Given the description of an element on the screen output the (x, y) to click on. 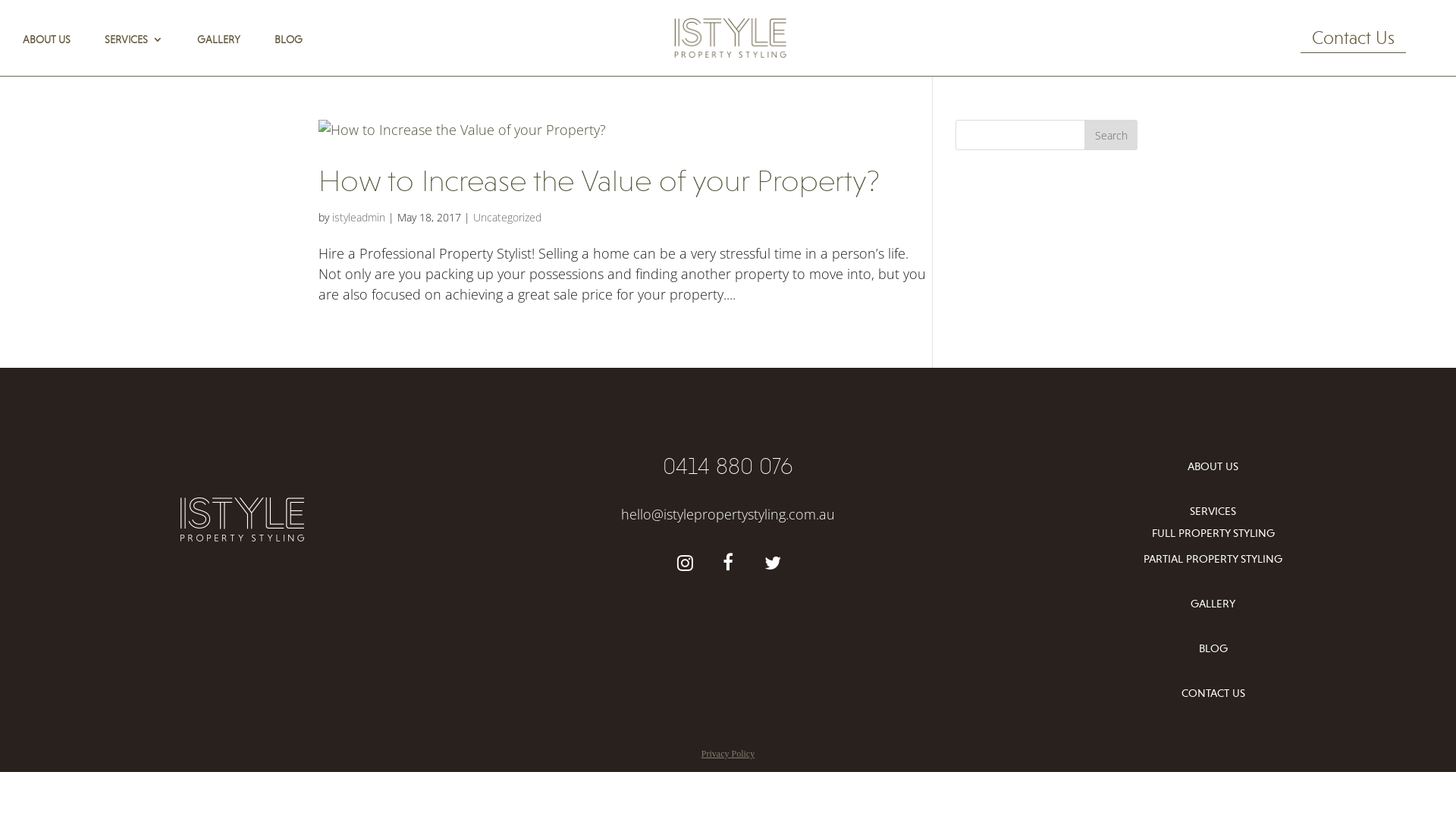
hello@istylepropertystyling.com.au Element type: text (727, 514)
ABOUT US Element type: text (46, 50)
How to Increase the Value of your Property? Element type: text (598, 180)
Uncategorized Element type: text (507, 217)
istyleadmin Element type: text (358, 217)
Search Element type: text (1110, 134)
BLOG Element type: text (288, 50)
FULL PROPERTY STYLING Element type: text (1212, 533)
GALLERY Element type: text (218, 50)
PARTIAL PROPERTY STYLING Element type: text (1212, 559)
Contact Us Element type: text (1352, 40)
Privacy Policy Element type: text (727, 753)
SERVICES Element type: text (133, 50)
SERVICES Element type: text (1212, 511)
BLOG Element type: text (1212, 648)
CONTACT US Element type: text (1213, 693)
GALLERY Element type: text (1212, 603)
ABOUT US Element type: text (1212, 466)
